Given the description of an element on the screen output the (x, y) to click on. 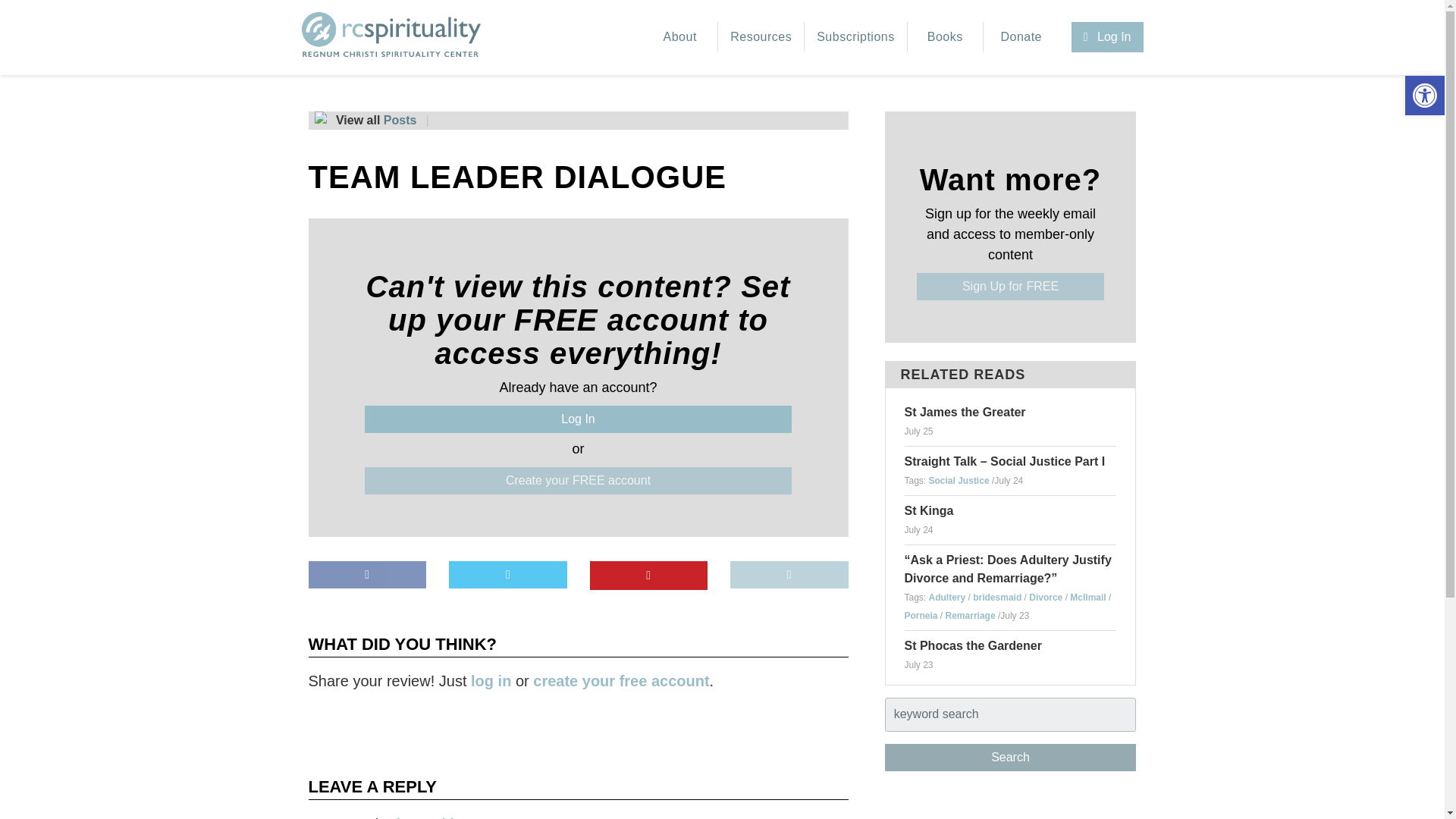
Books (945, 37)
Accessibility Tools (1424, 95)
log in (490, 680)
Log In (578, 419)
About (679, 37)
Create your FREE account (578, 480)
Posts (400, 119)
Resources (761, 37)
Log In (1106, 37)
Donate (1021, 37)
Subscriptions (856, 37)
